Given the description of an element on the screen output the (x, y) to click on. 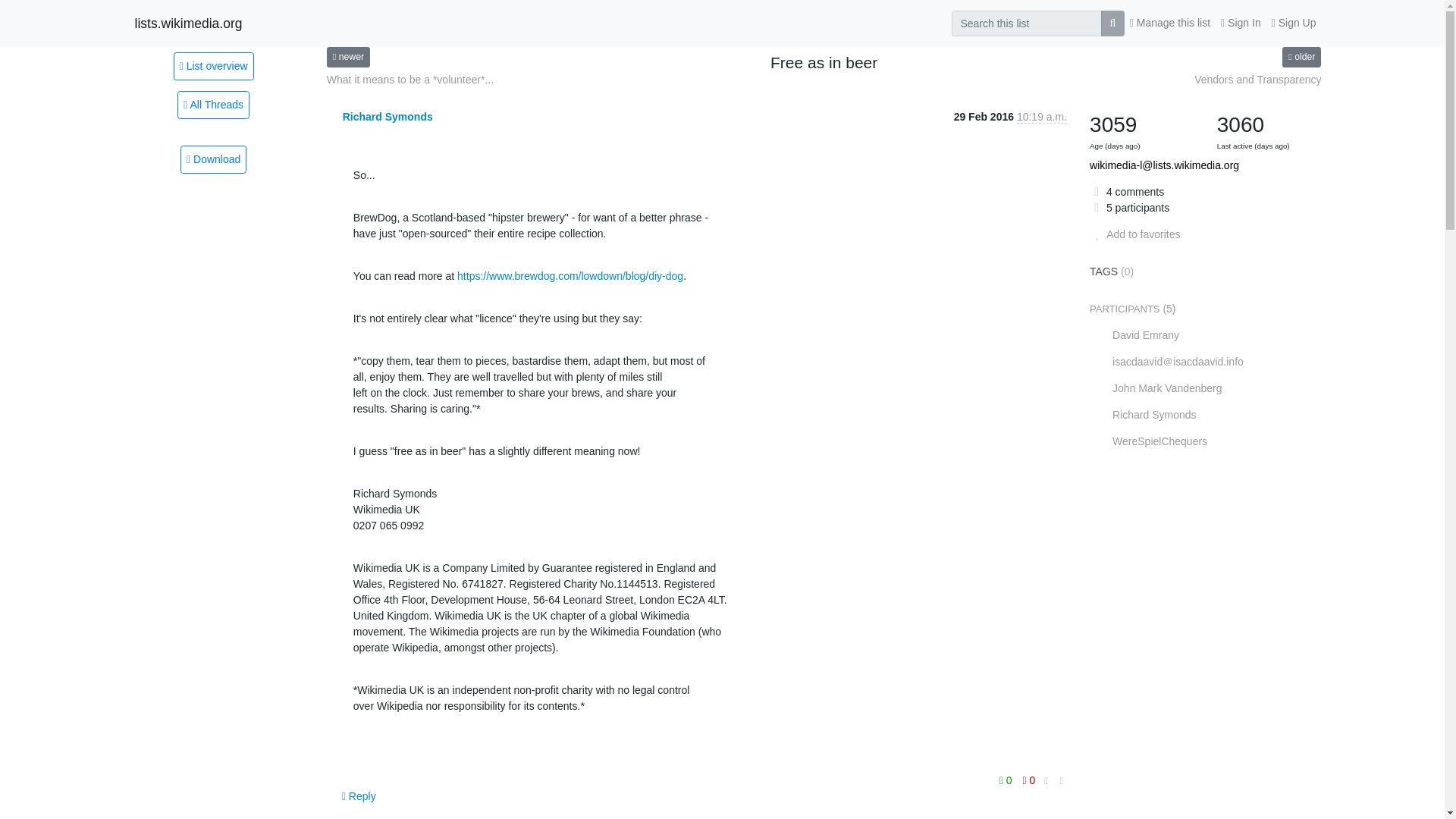
See the profile for Richard Symonds (387, 116)
Manage this list (1169, 22)
Vendors and Transparency (1256, 79)
older (1301, 56)
Sign In (1240, 22)
You must be logged-in to vote. (1007, 780)
Sign in to reply online (359, 795)
List overview (213, 65)
Permalink for this message (1061, 781)
Vendors and Transparency (1301, 56)
Display in fixed font (1046, 781)
This thread in gzipped mbox format (213, 159)
All Threads (212, 104)
Sign Up (1294, 22)
Sender's time: Feb. 29, 2016, 3:19 p.m. (1041, 116)
